Given the description of an element on the screen output the (x, y) to click on. 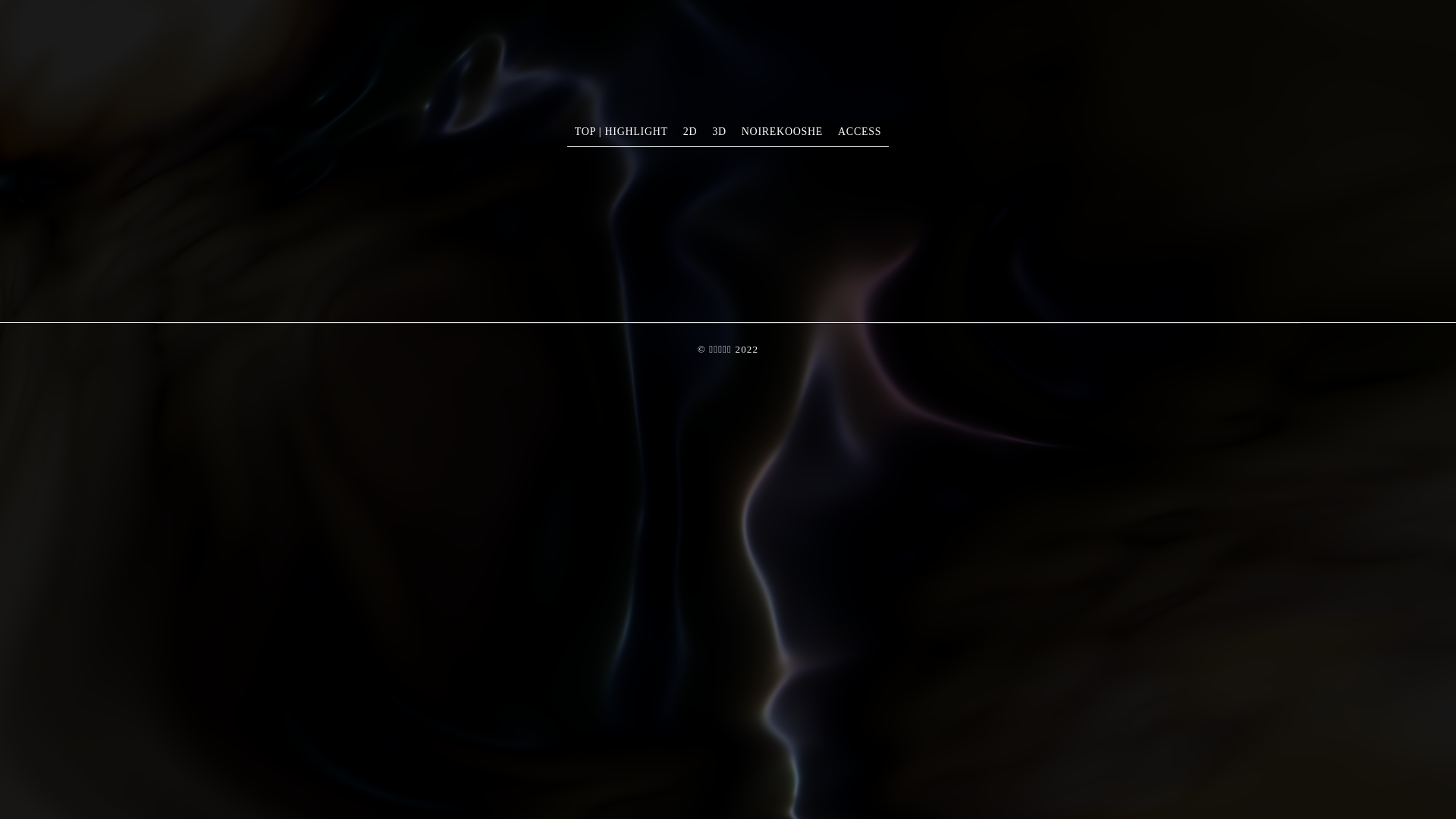
1N7MM Element type: text (211, 82)
ACCESS Element type: text (859, 131)
NOIREKOOSHE Element type: text (782, 131)
TOP | HIGHLIGHT Element type: text (621, 131)
2D Element type: text (690, 131)
3D Element type: text (719, 131)
